Given the description of an element on the screen output the (x, y) to click on. 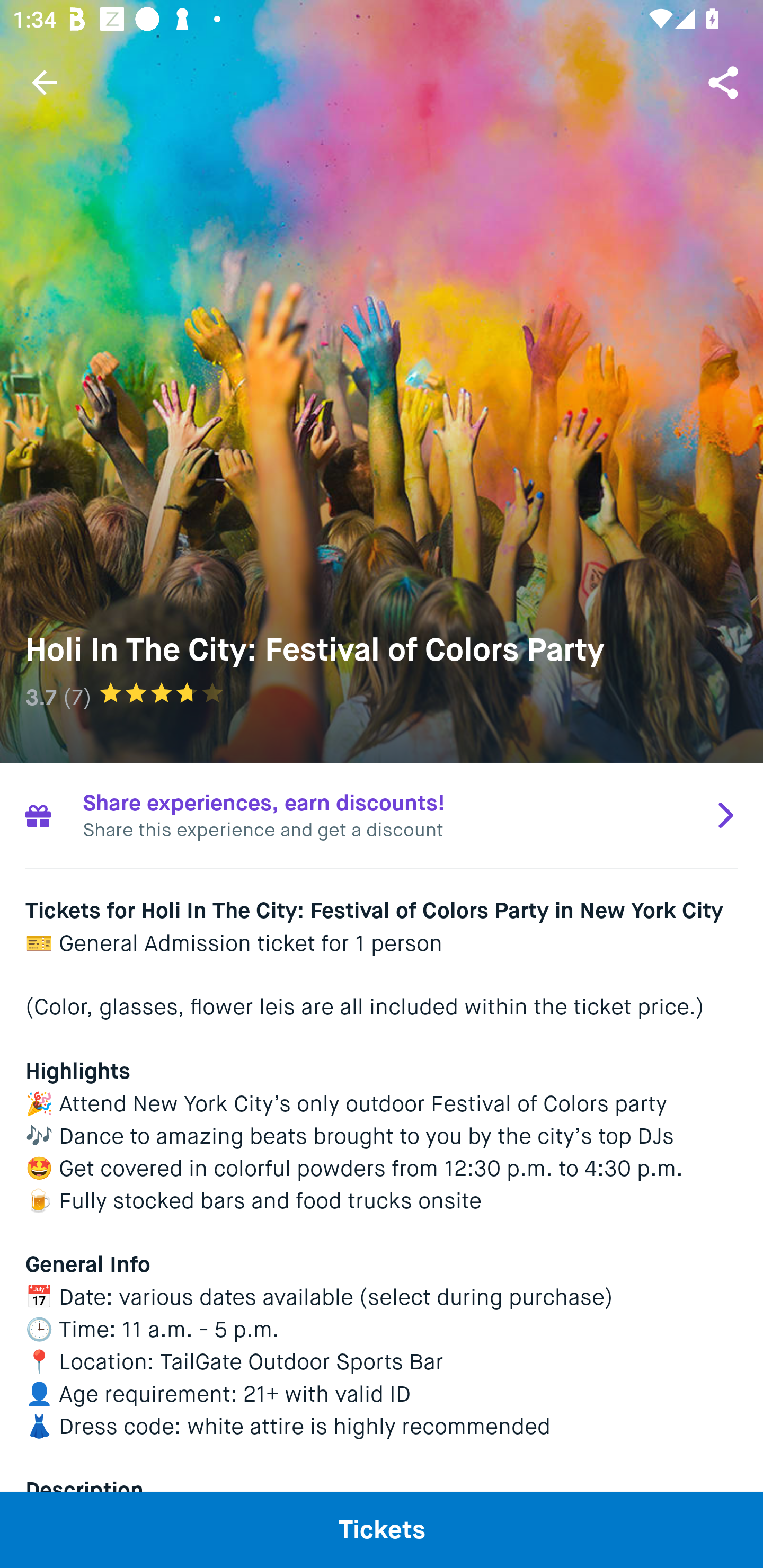
Navigate up (44, 82)
Share (724, 81)
(7) (77, 697)
Tickets (381, 1529)
